Given the description of an element on the screen output the (x, y) to click on. 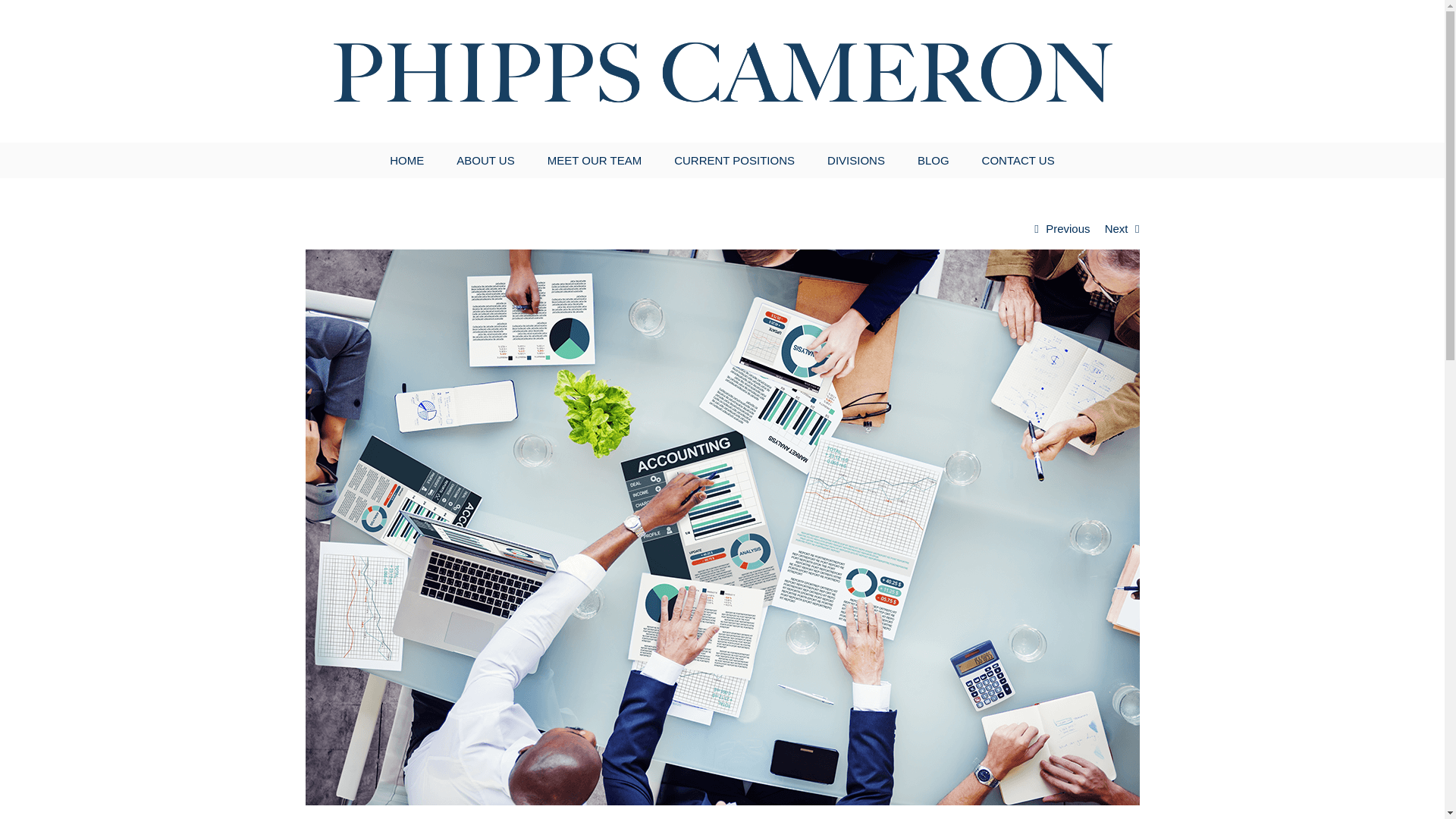
ABOUT US (485, 160)
MEET OUR TEAM (594, 160)
Previous (1067, 228)
HOME (406, 160)
Next (1116, 228)
CURRENT POSITIONS (734, 160)
BLOG (933, 160)
DIVISIONS (856, 160)
CONTACT US (1017, 160)
